Given the description of an element on the screen output the (x, y) to click on. 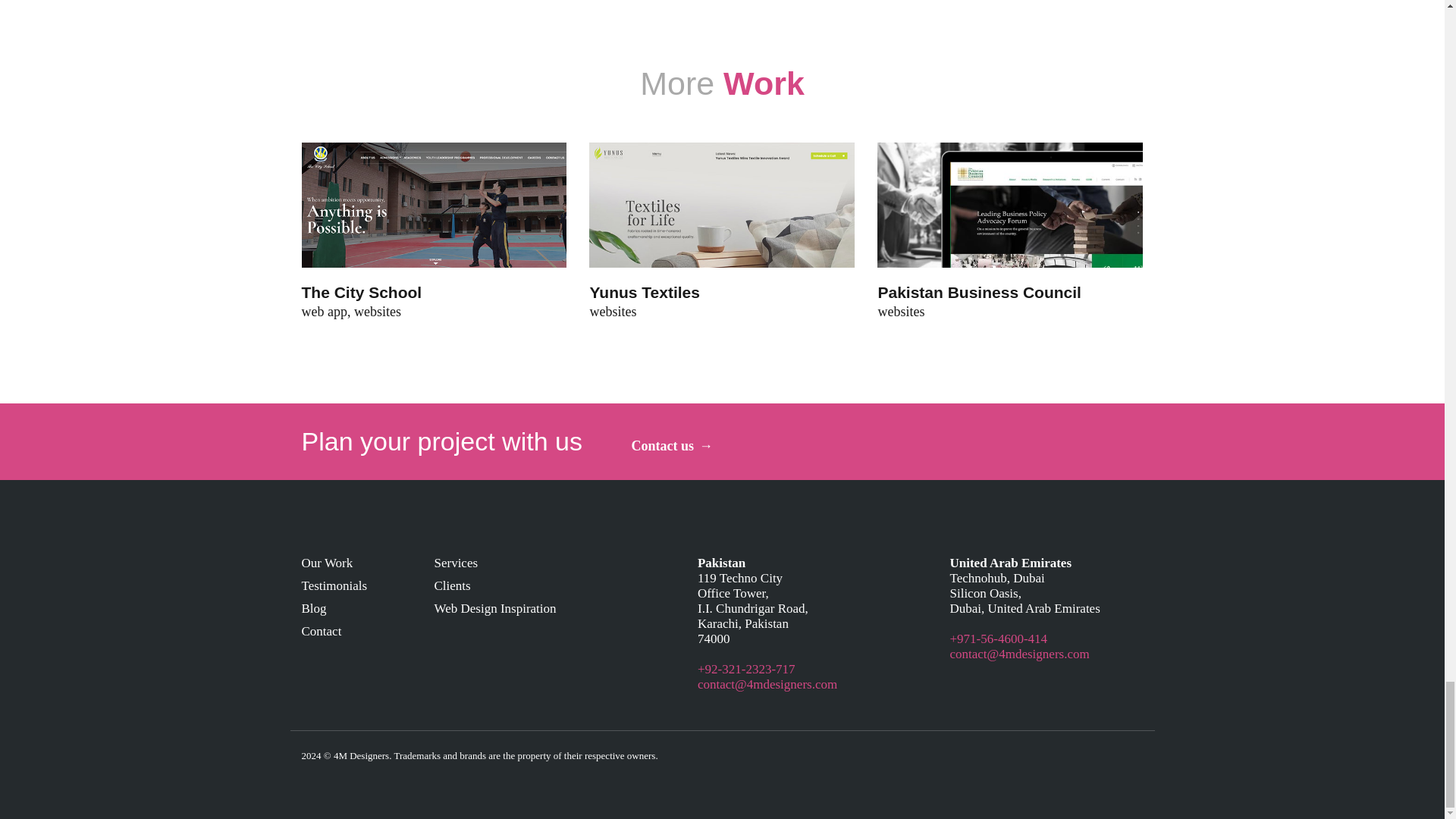
Pakistan Business Council (986, 292)
Yunus Textiles (652, 292)
Contact us (671, 446)
The City School (369, 292)
Clients (451, 585)
Testimonials (334, 585)
Our Work (327, 563)
Services (455, 563)
